Given the description of an element on the screen output the (x, y) to click on. 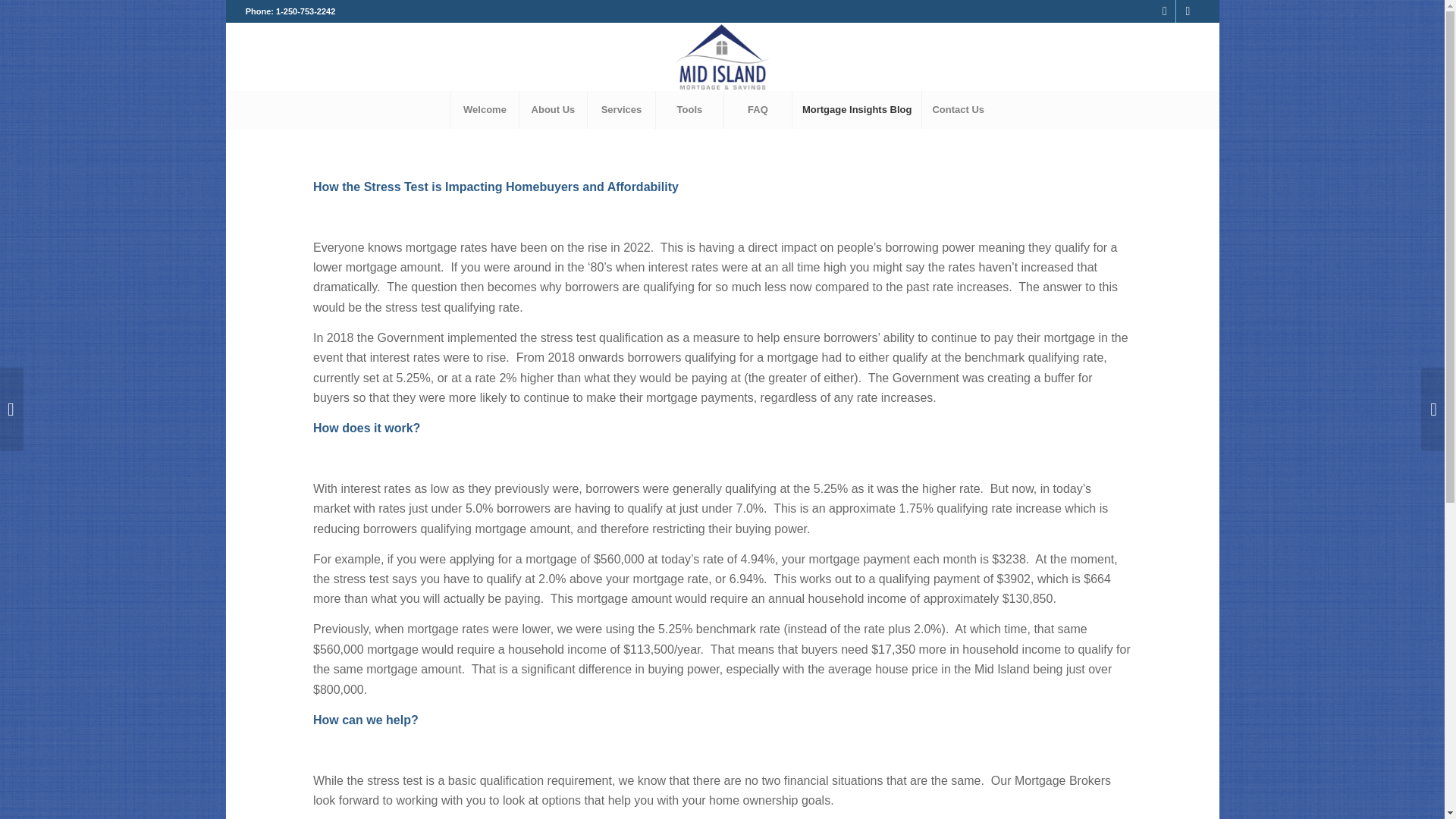
Tools (689, 109)
logo-2017 (722, 56)
Mortgage Insights Blog (856, 109)
Welcome (483, 109)
About Us (552, 109)
FAQ (757, 109)
Services (620, 109)
